Given the description of an element on the screen output the (x, y) to click on. 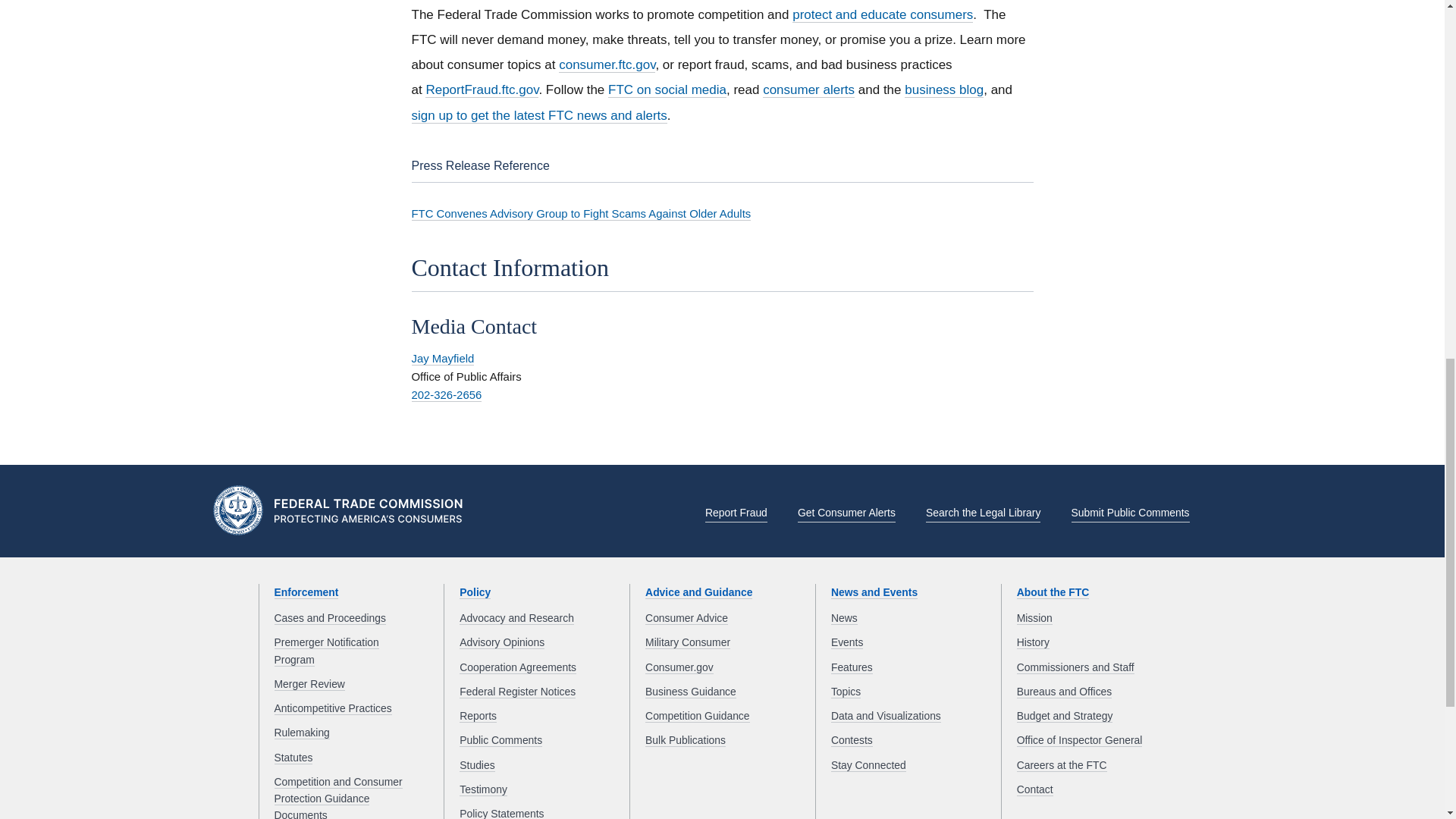
Home (343, 512)
